Given the description of an element on the screen output the (x, y) to click on. 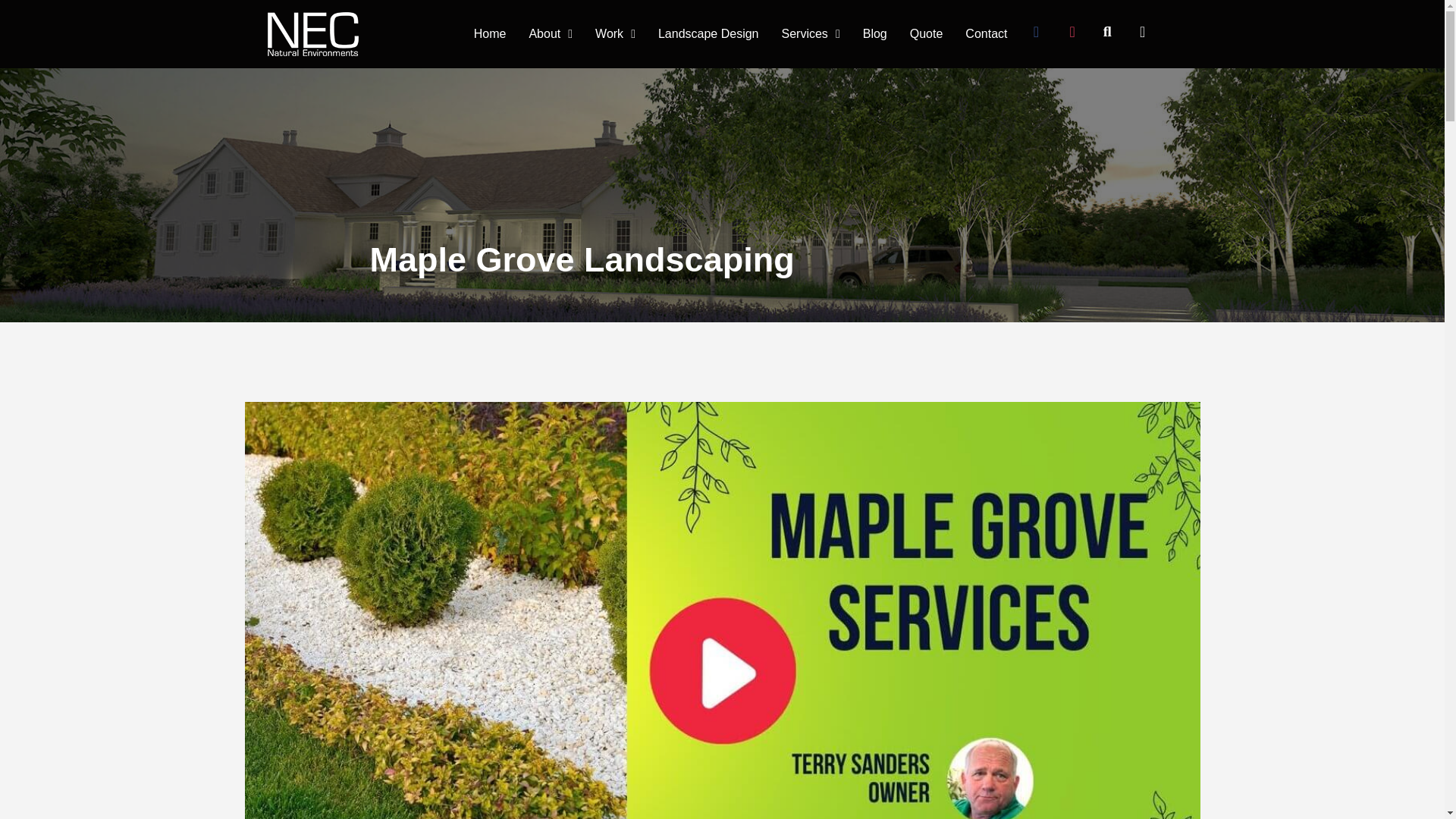
Work (614, 33)
Services (810, 33)
Landscape Design (708, 33)
Home (490, 33)
About (550, 33)
